Given the description of an element on the screen output the (x, y) to click on. 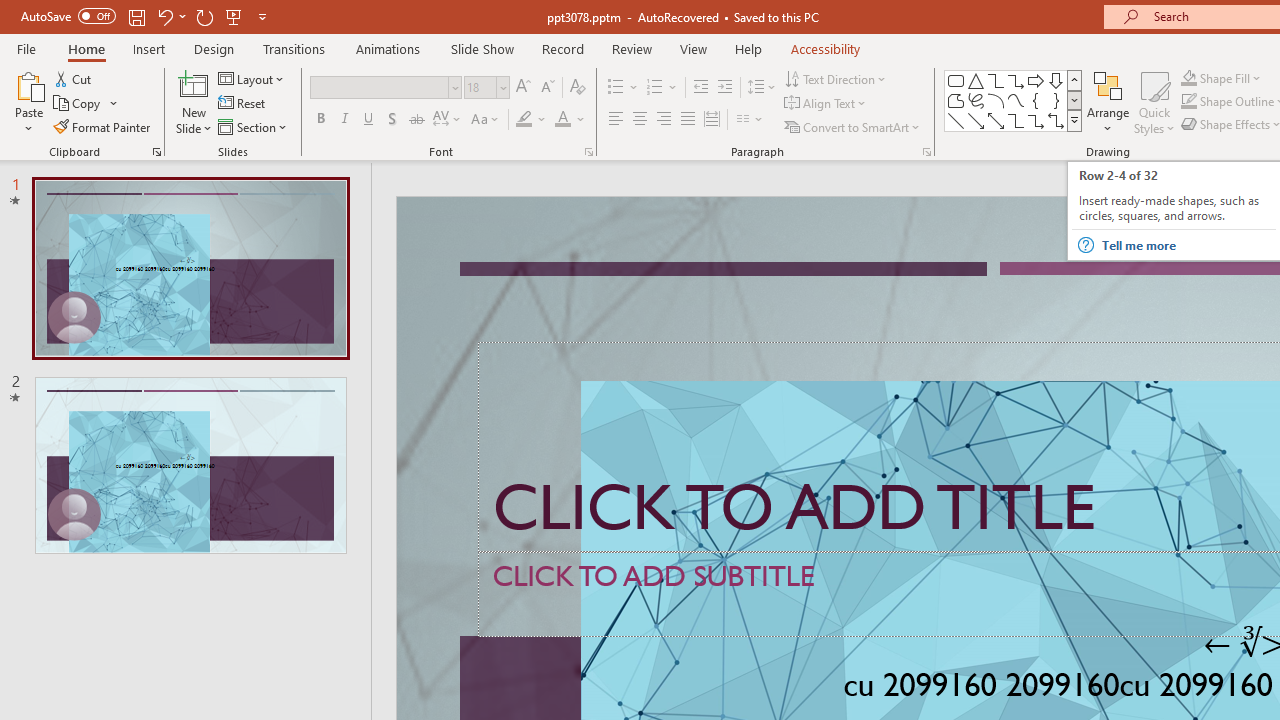
Freeform: Shape (955, 100)
Align Left (616, 119)
Arc (995, 100)
Line (955, 120)
Font... (588, 151)
Change Case (486, 119)
Shapes (1074, 120)
Clear Formatting (577, 87)
